Given the description of an element on the screen output the (x, y) to click on. 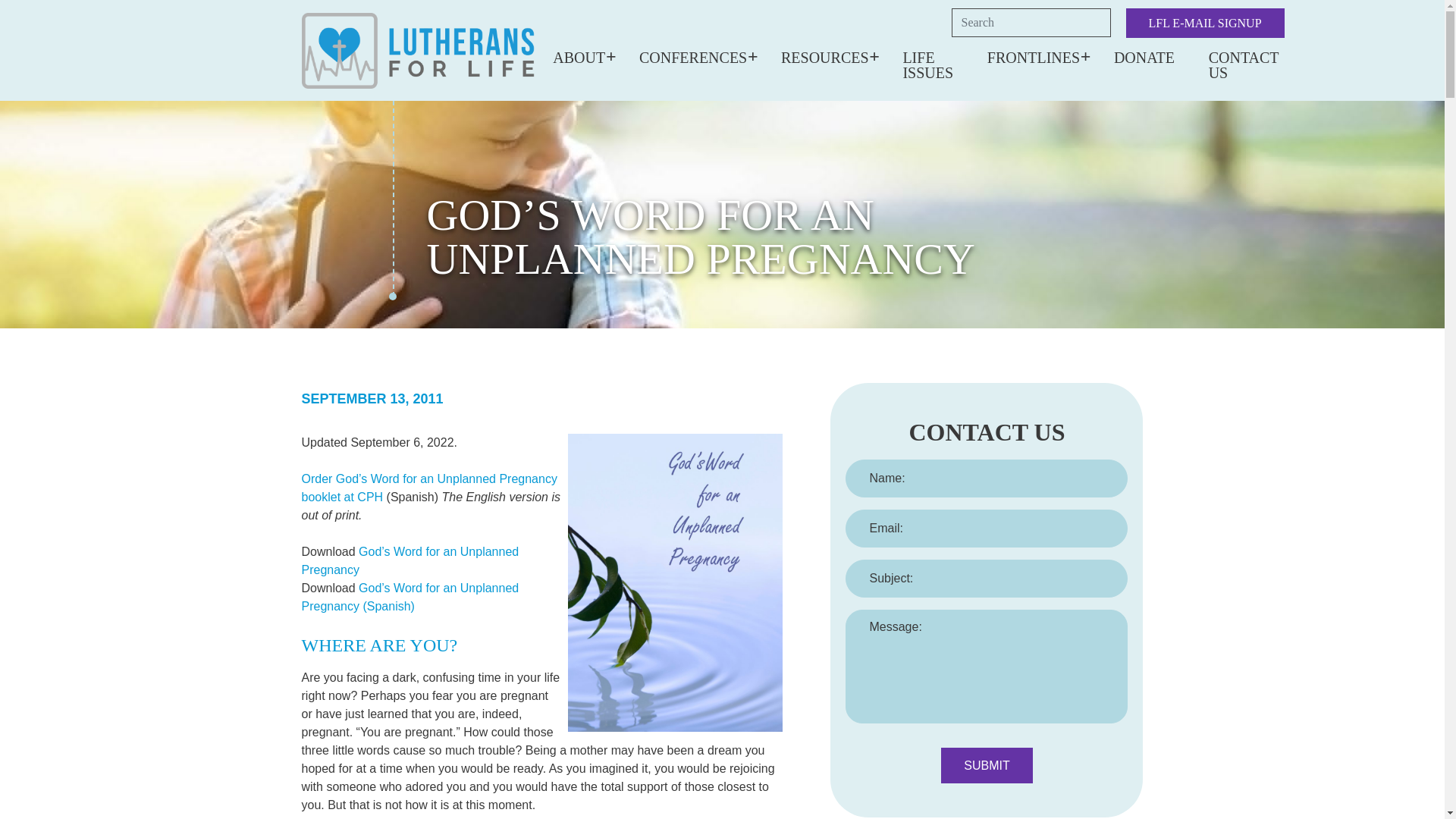
Conferences (693, 57)
Resources (824, 57)
ABOUT (579, 57)
About (579, 57)
FRONTLINES (1032, 57)
SEARCH (1101, 16)
CONFERENCES (693, 57)
RESOURCES (824, 57)
LFL E-MAIL SIGNUP (1204, 22)
CONTACT US (1243, 64)
